Given the description of an element on the screen output the (x, y) to click on. 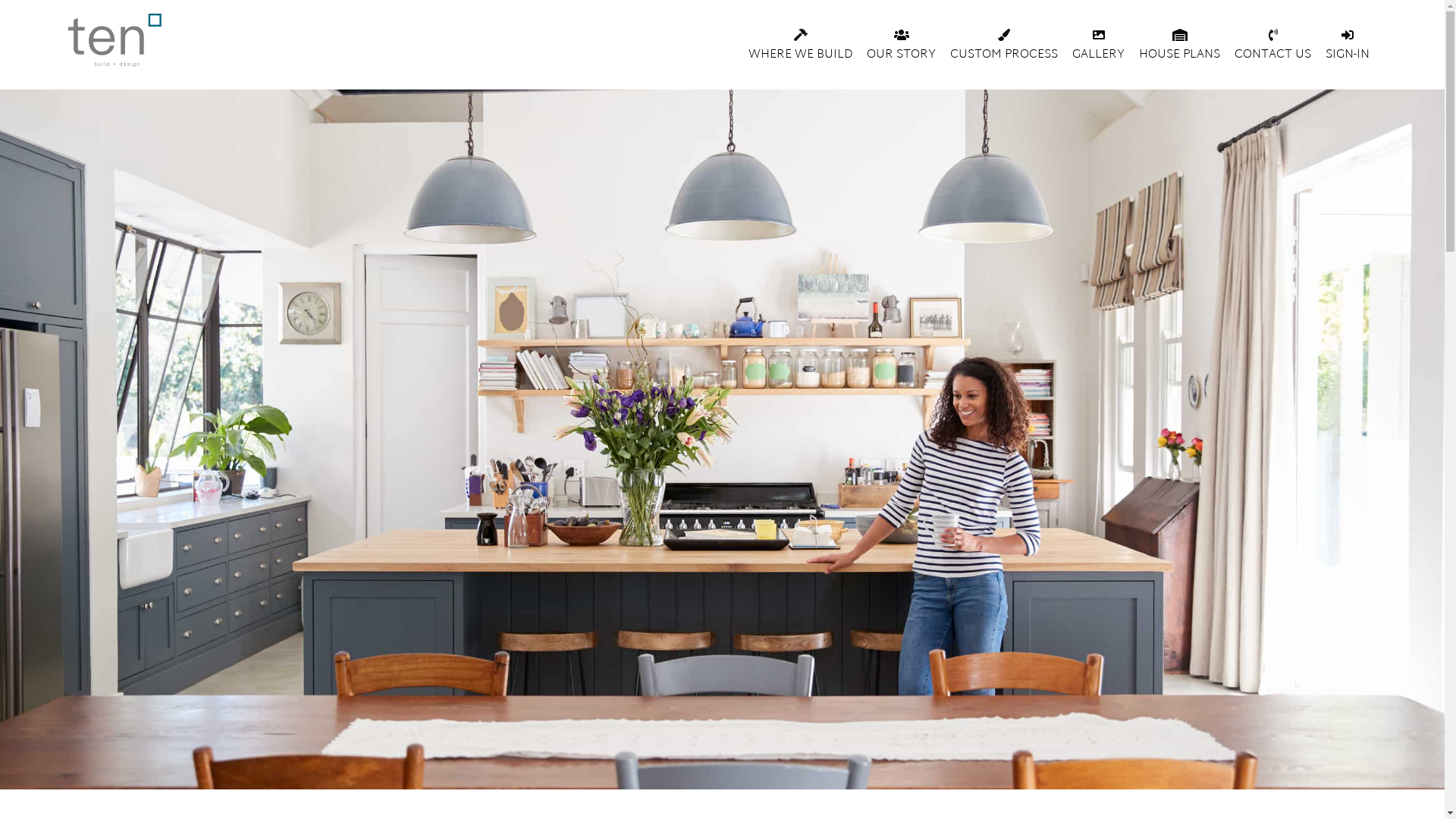
CUSTOM PROCESS Element type: text (1003, 44)
HOUSE PLANS Element type: text (1179, 44)
OUR STORY Element type: text (900, 44)
WHERE WE BUILD Element type: text (800, 44)
SIGN-IN Element type: text (1347, 44)
GALLERY Element type: text (1098, 44)
CONTACT US Element type: text (1272, 44)
